Given the description of an element on the screen output the (x, y) to click on. 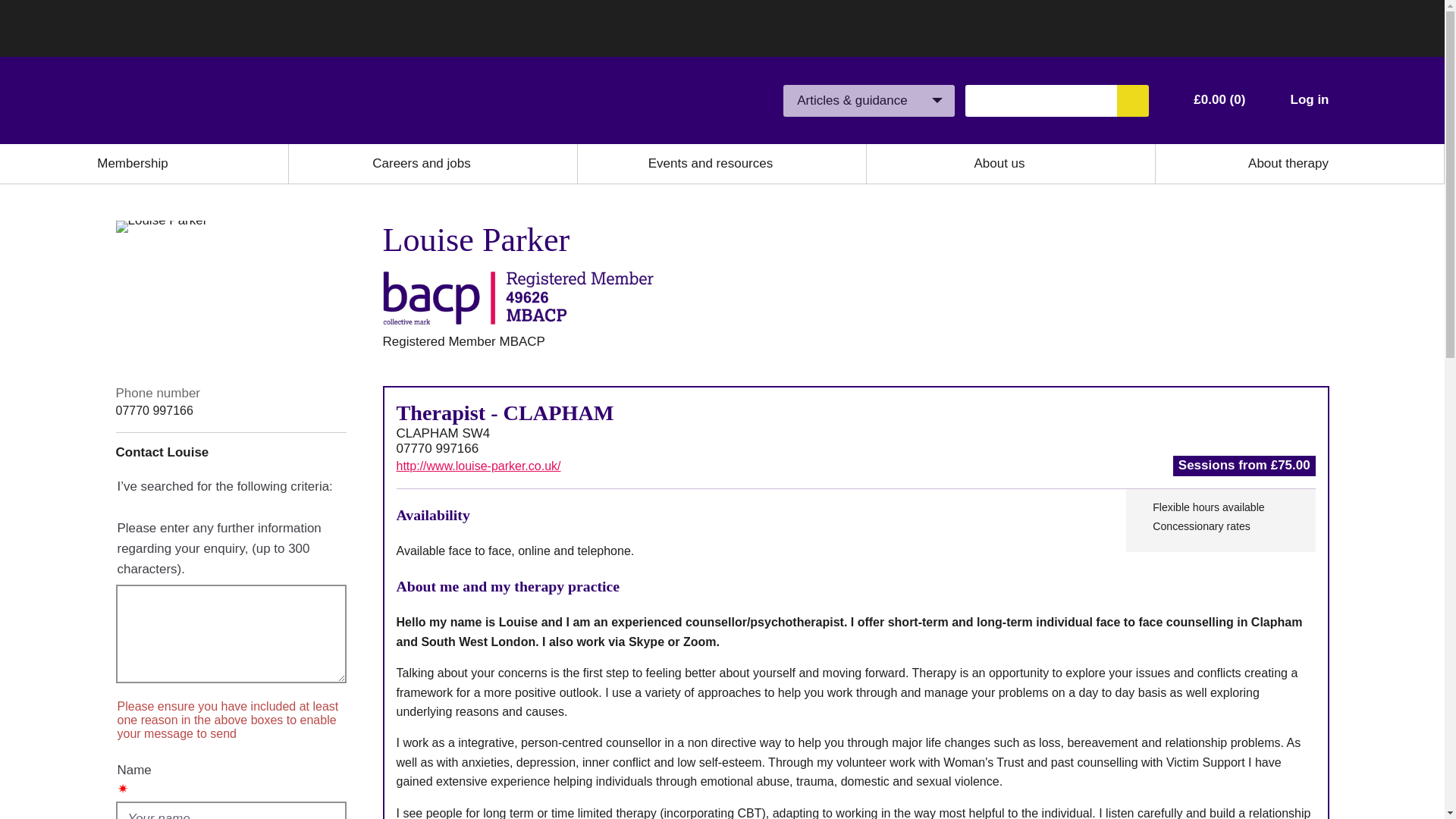
Membership (132, 163)
Search the BACP website (1132, 101)
Events and resources (710, 163)
Careers and jobs (421, 163)
Log in (1309, 99)
